Given the description of an element on the screen output the (x, y) to click on. 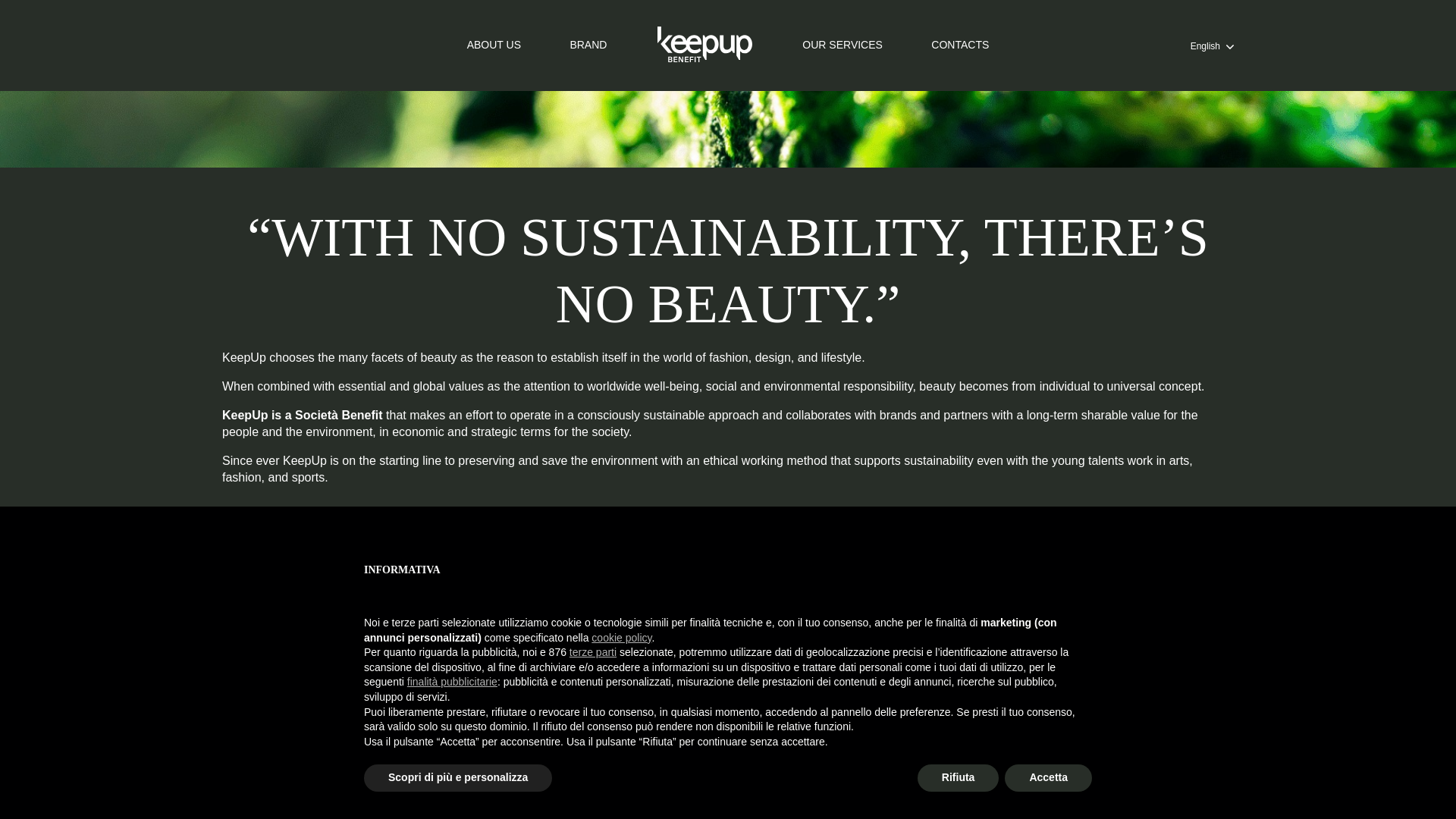
COOKIE POLICY (1022, 799)
Rifiuta (957, 126)
CONTACTS (784, 799)
PRIVACY POLICY (898, 799)
CASE HISTORY (675, 799)
Accetta (1048, 126)
SUSTAINABILITY (433, 799)
OUR SERVICES (555, 799)
terze parti (592, 4)
linkedin (727, 749)
